Given the description of an element on the screen output the (x, y) to click on. 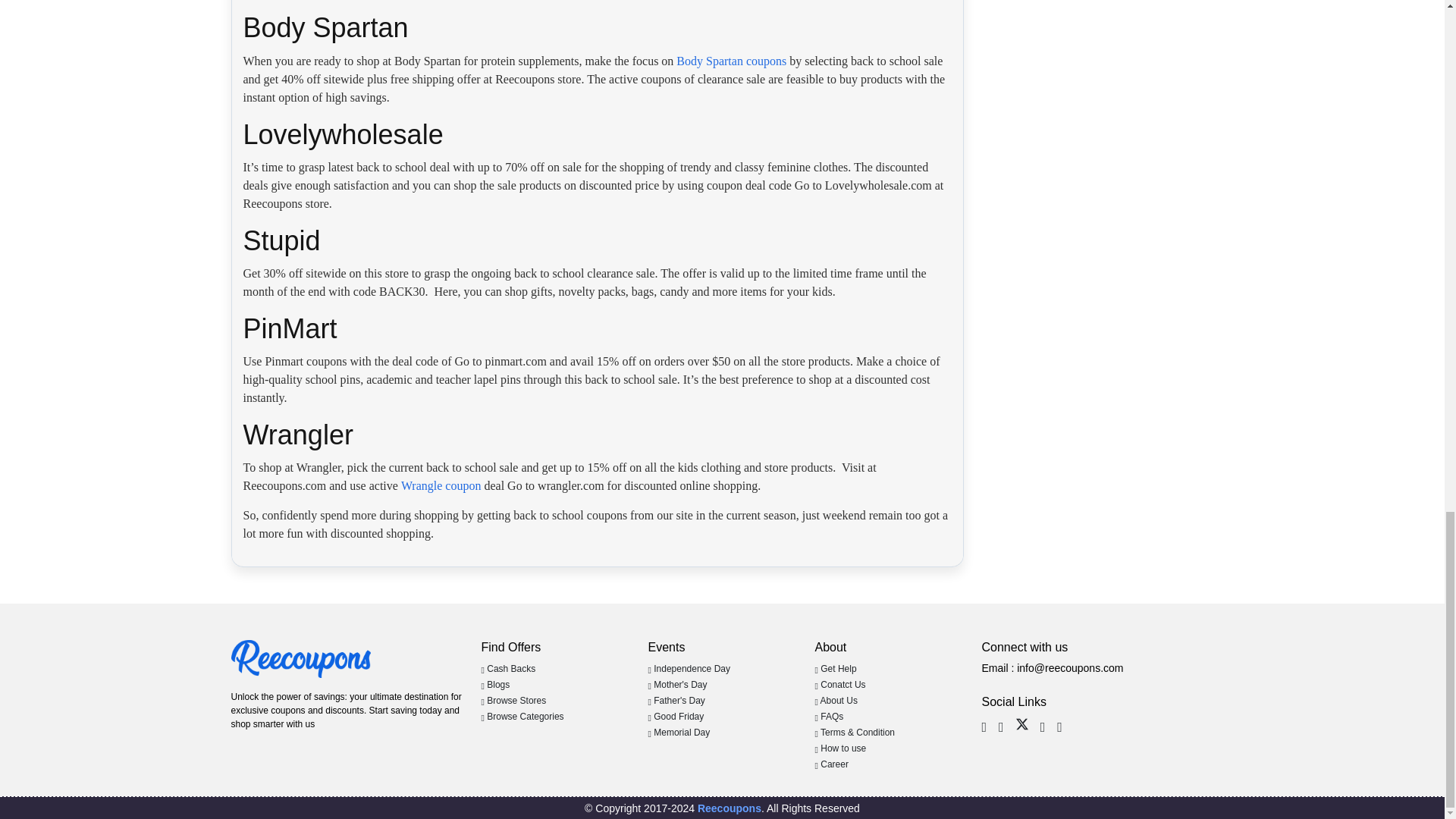
Good Friday (675, 716)
Body Spartan coupons (731, 60)
Memorial Day (678, 732)
Wrangle coupon (441, 485)
Father's Day (675, 700)
Mother's Day (676, 684)
Independence Day (688, 668)
